Given the description of an element on the screen output the (x, y) to click on. 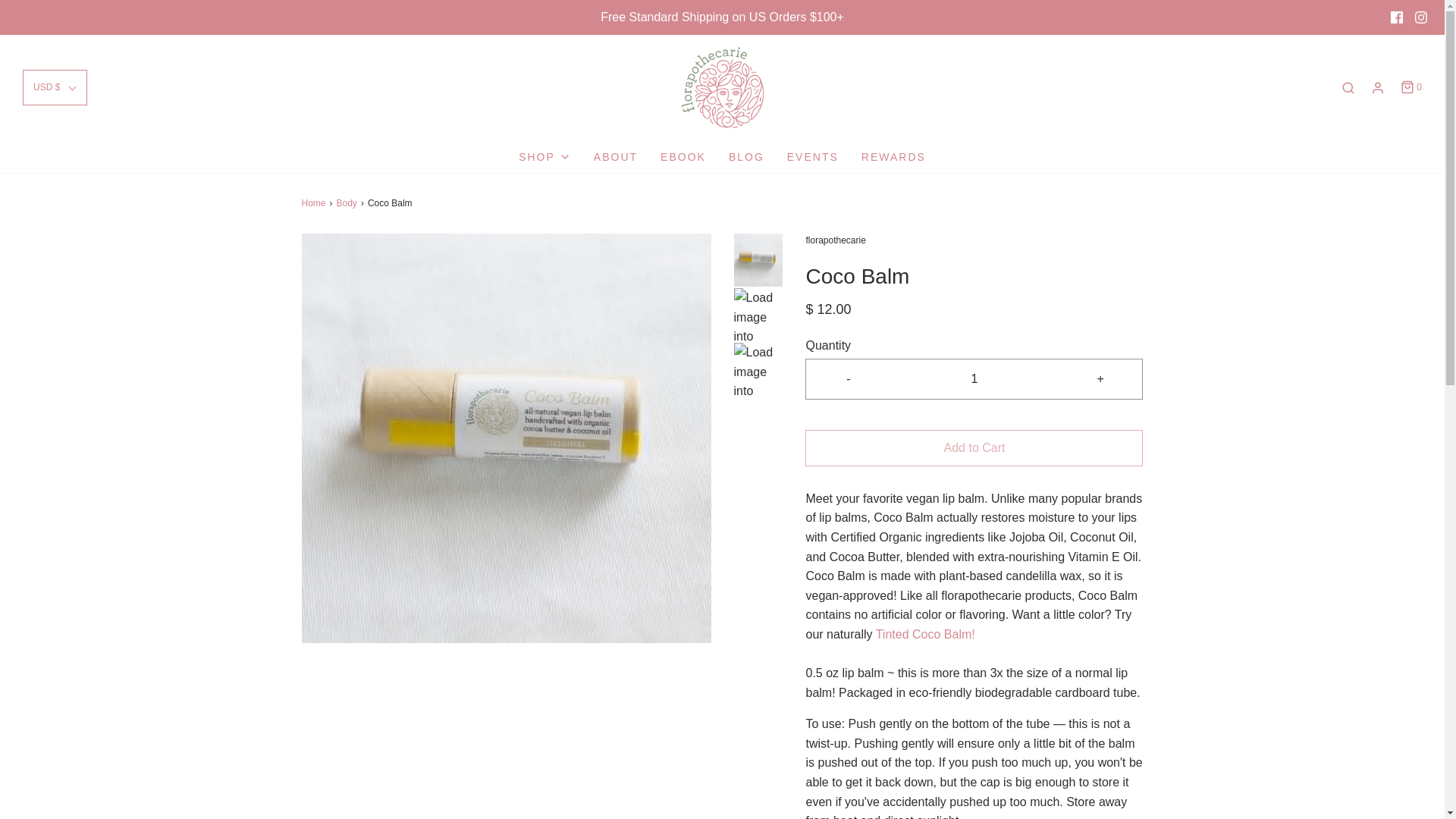
Facebook icon (1396, 17)
Cart (1409, 87)
Search (1423, 8)
Instagram icon (1420, 17)
Log in (1377, 88)
Search (1347, 88)
0 (1409, 87)
Facebook icon (1396, 17)
Instagram icon (1420, 17)
Back to the frontpage (315, 203)
